Given the description of an element on the screen output the (x, y) to click on. 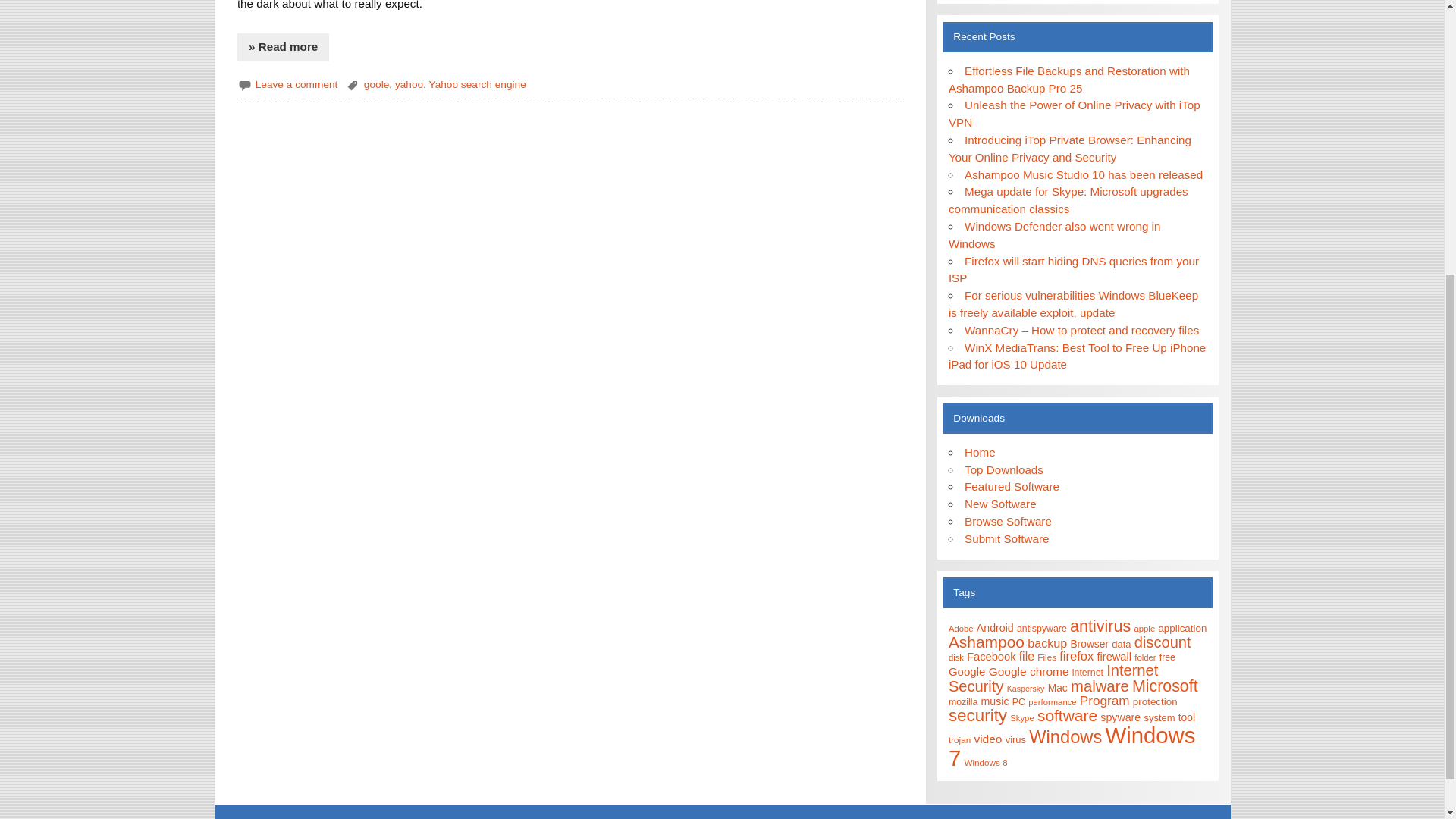
Windows Defender also went wrong in Windows (1054, 235)
Top Software Downloads (1011, 486)
yahoo (408, 84)
Home (979, 451)
Ashampoo Music Studio 10 has been released (1082, 174)
Firefox will start hiding DNS queries from your ISP (1073, 269)
New Software Downloads (999, 503)
Submit Software PAD file  (1005, 538)
